Given the description of an element on the screen output the (x, y) to click on. 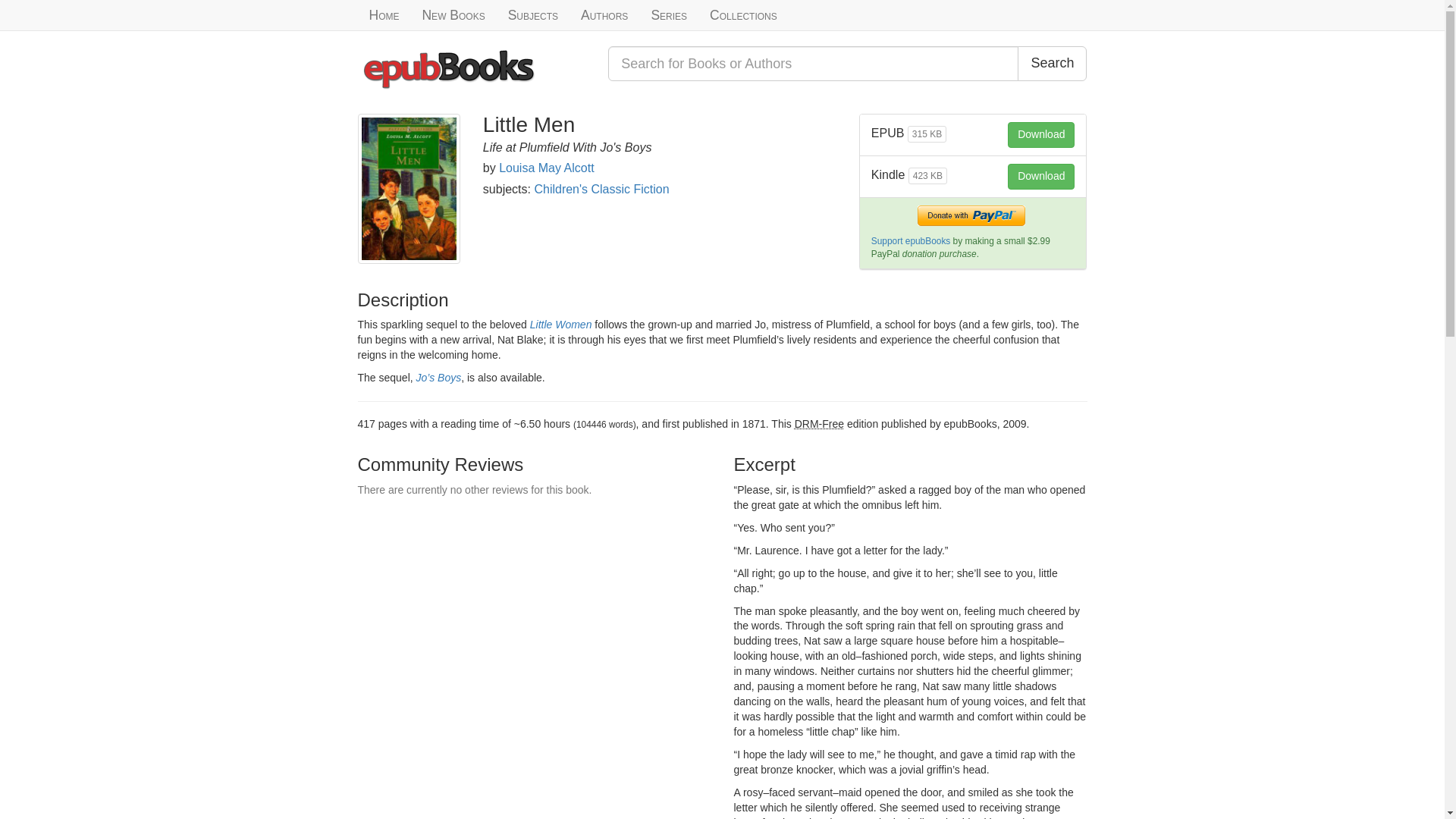
Little Women (560, 324)
Louisa May Alcott (546, 167)
New Books (453, 15)
Collections (743, 15)
Download (1040, 135)
Download (1040, 176)
Series (668, 15)
Home (384, 15)
Authors (604, 15)
Search (1051, 63)
eBook is free from any Digital Rights Management protection (819, 423)
Subjects (532, 15)
Support epubBooks (910, 240)
Children's Classic Fiction (601, 188)
